Given the description of an element on the screen output the (x, y) to click on. 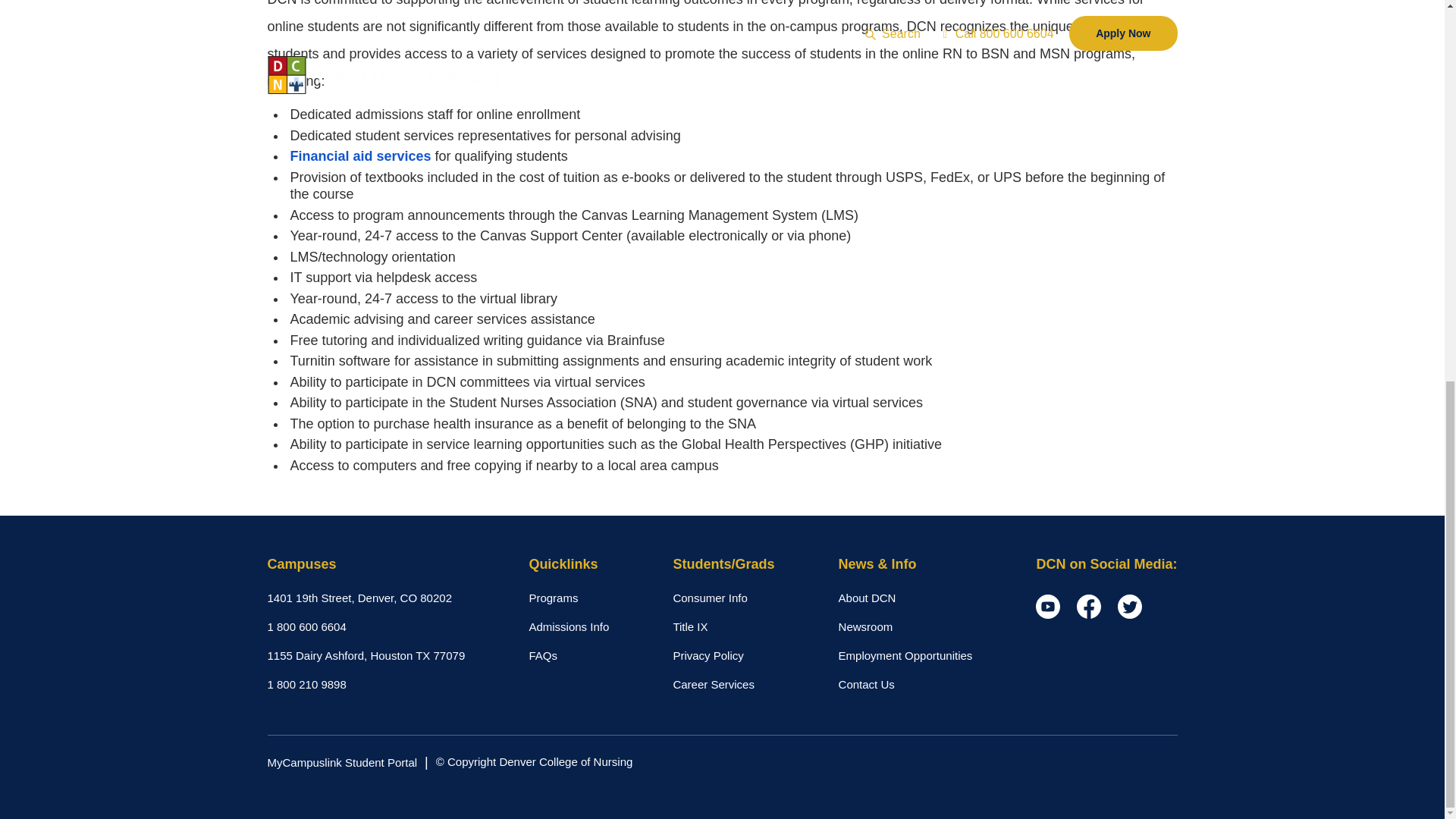
icon-yt (1047, 606)
icon-fb (1088, 606)
icon-tw (1129, 606)
